Given the description of an element on the screen output the (x, y) to click on. 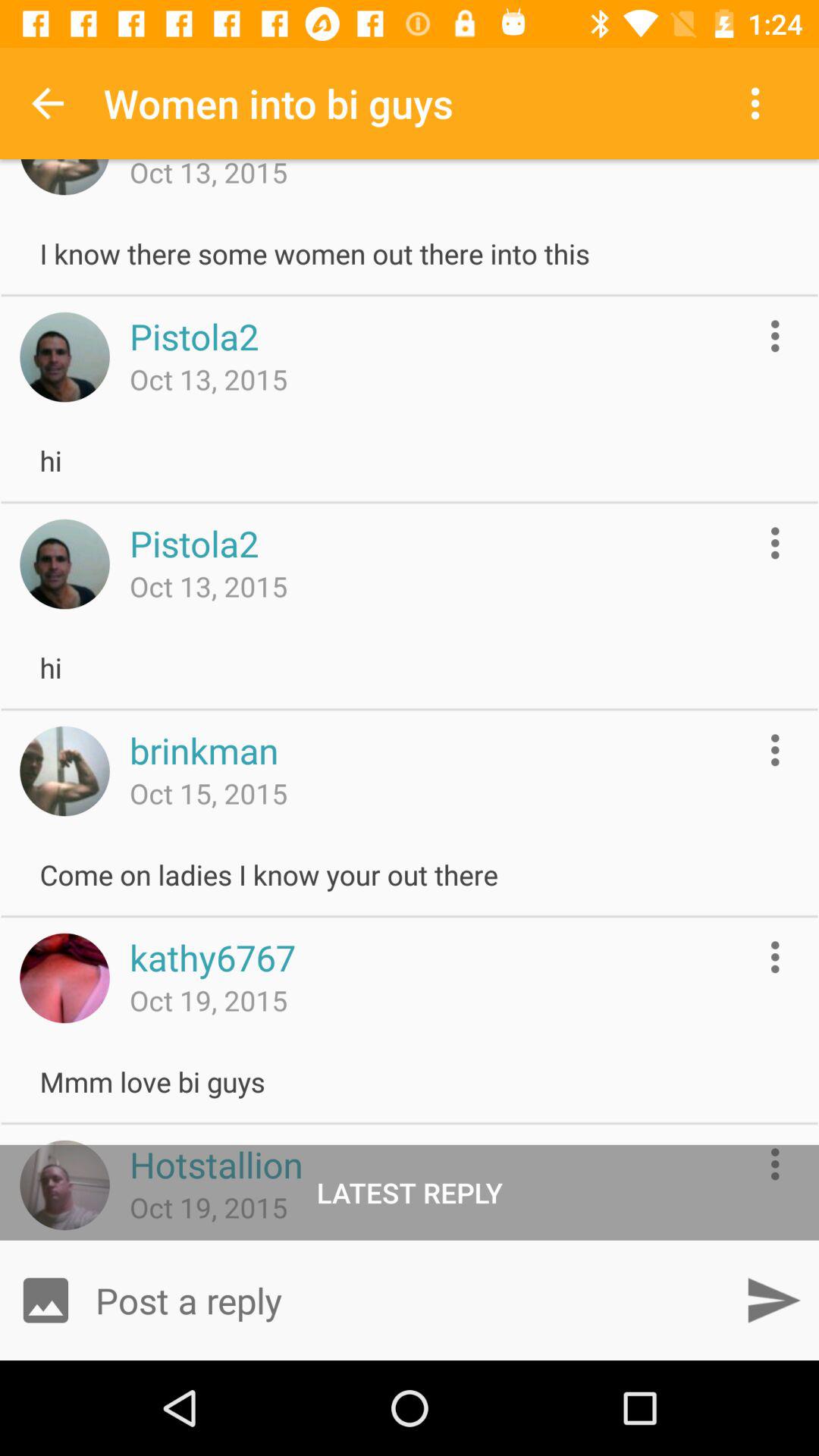
view more information (775, 750)
